Given the description of an element on the screen output the (x, y) to click on. 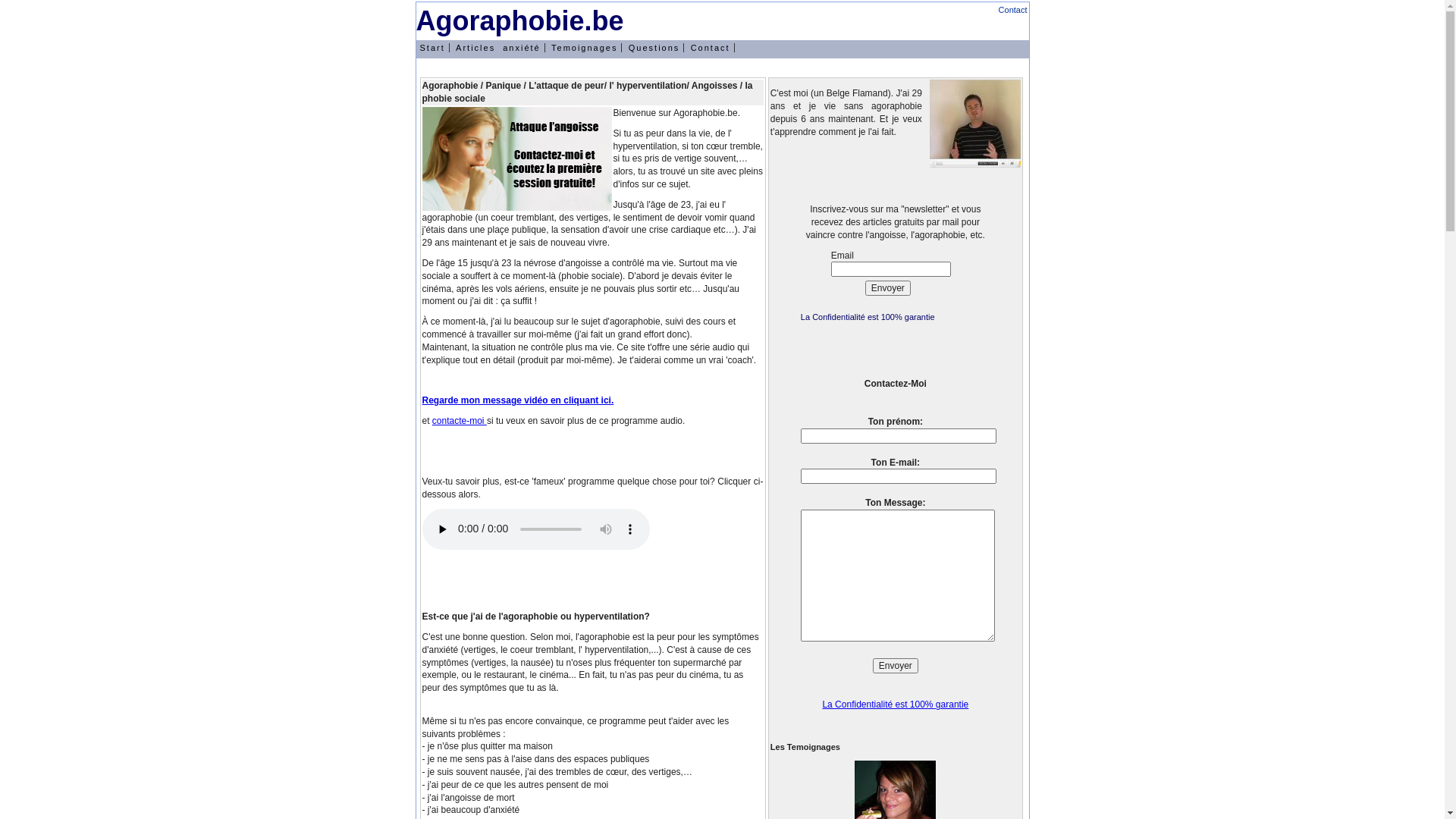
Contact Element type: text (1012, 9)
Questions Element type: text (654, 47)
Contact Element type: text (710, 47)
contacte-moi Element type: text (459, 420)
Envoyer Element type: text (895, 665)
Envoyer Element type: text (887, 287)
Start Element type: text (431, 47)
Temoignages Element type: text (584, 47)
